Given the description of an element on the screen output the (x, y) to click on. 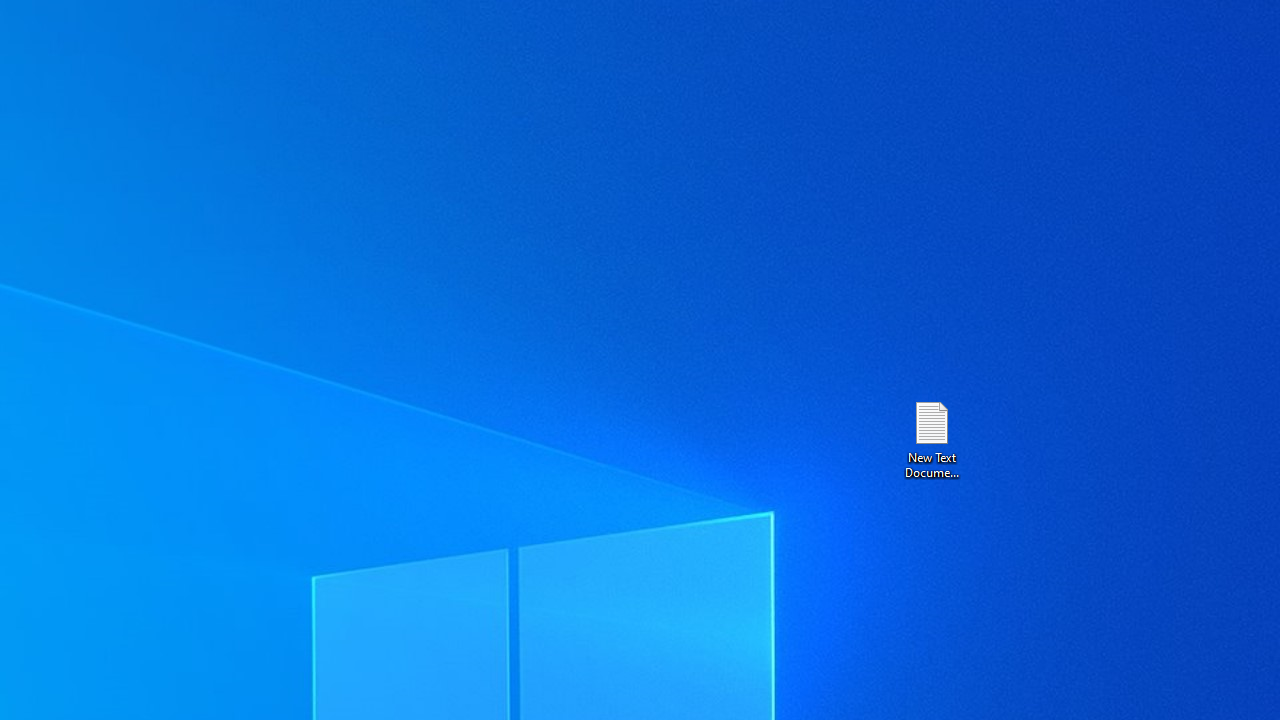
New Text Document (2) (931, 438)
